Given the description of an element on the screen output the (x, y) to click on. 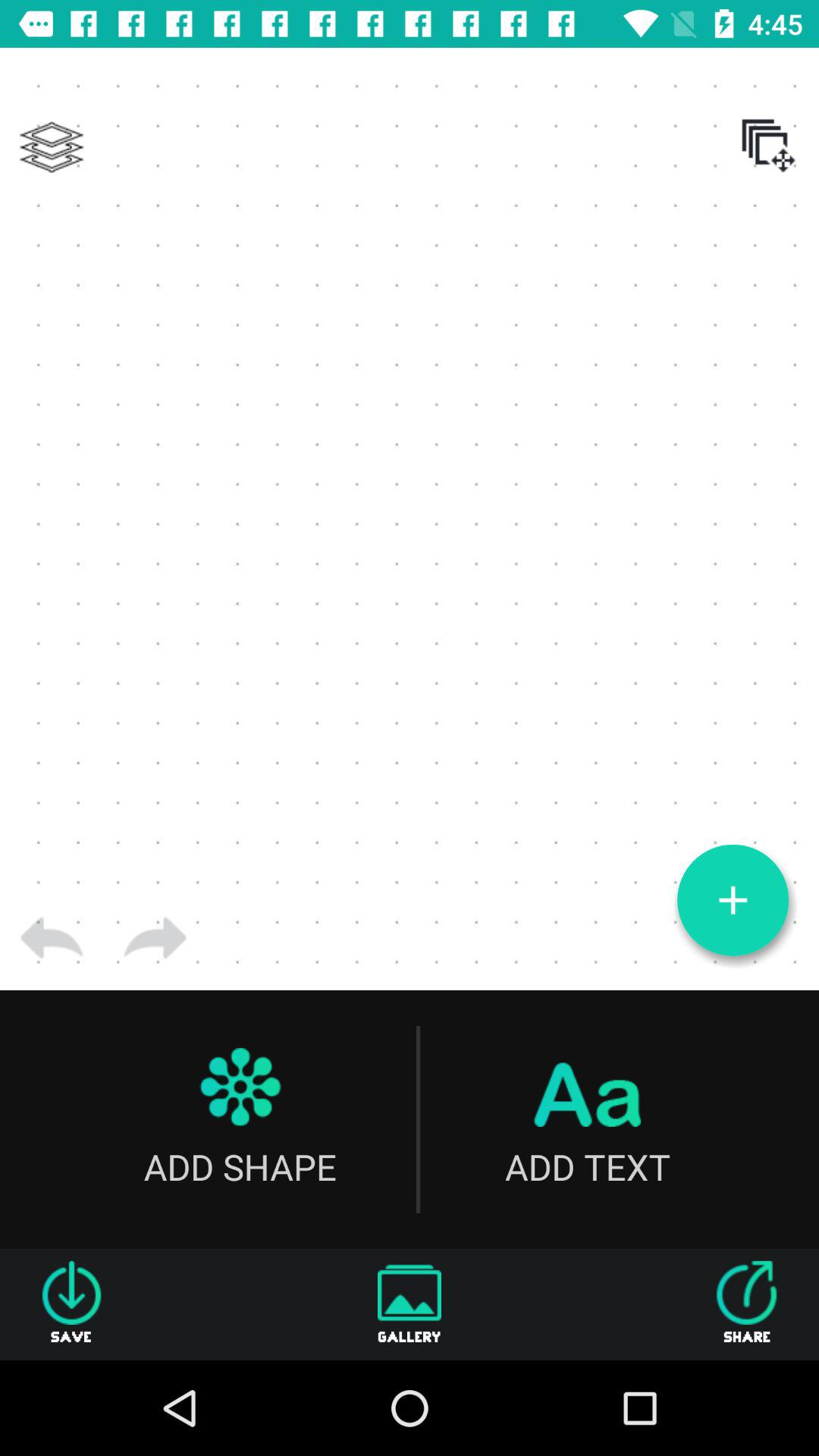
open item to the right of save (409, 1304)
